Given the description of an element on the screen output the (x, y) to click on. 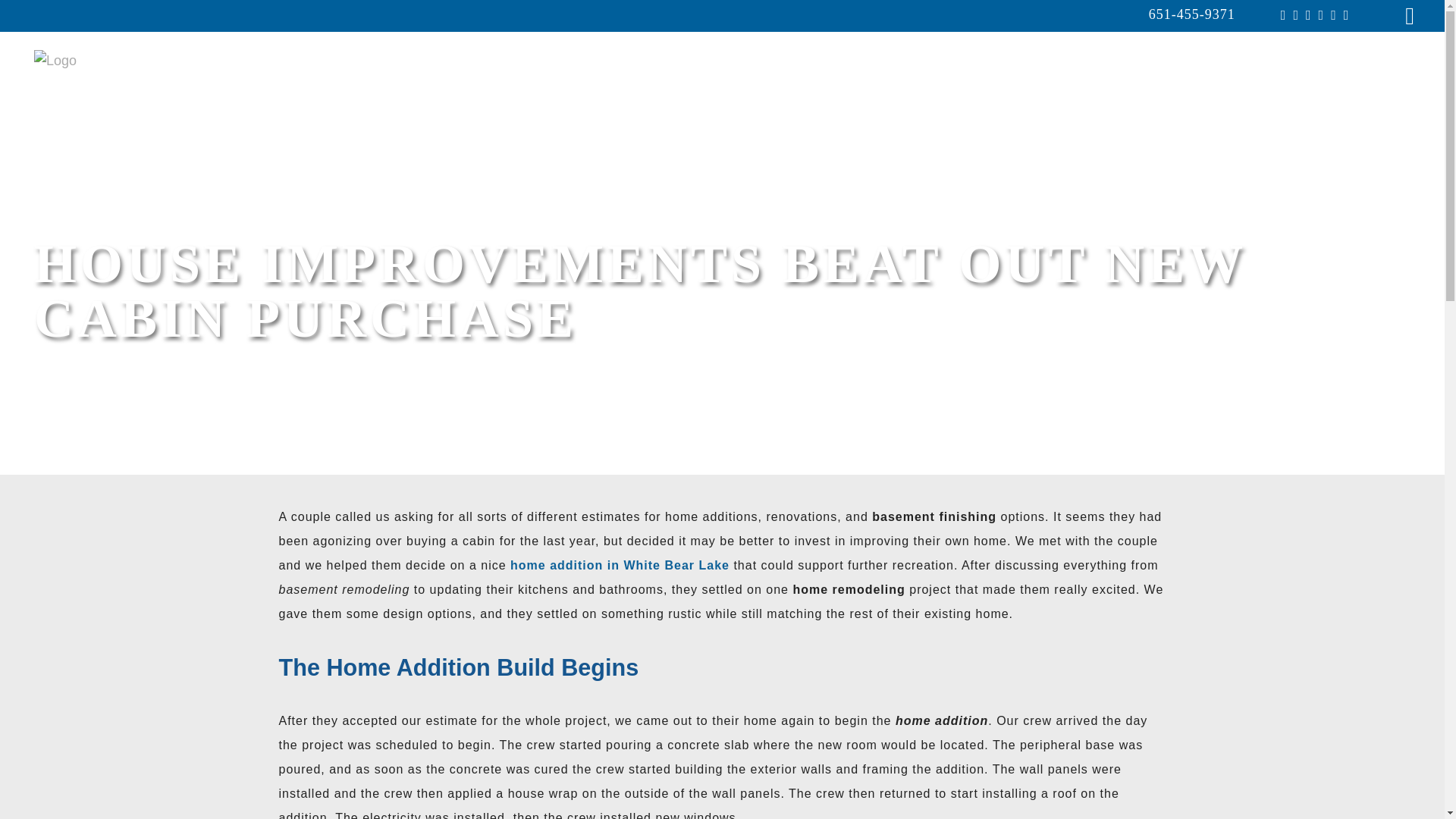
651-455-9371 (1191, 14)
